Given the description of an element on the screen output the (x, y) to click on. 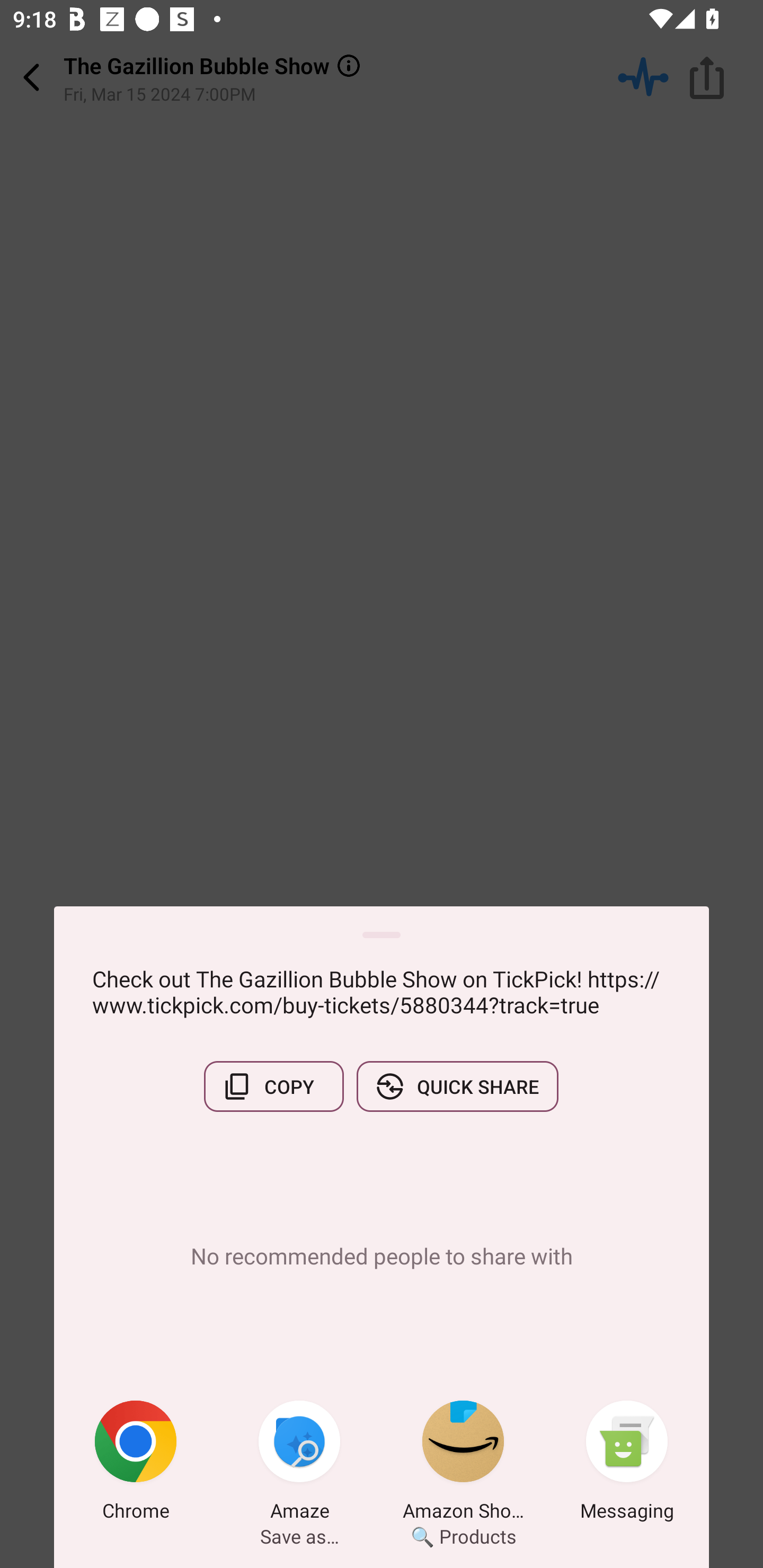
COPY (273, 1086)
QUICK SHARE (457, 1086)
Chrome (135, 1463)
Amaze Save as… (299, 1463)
Amazon Shopping 🔍 Products (463, 1463)
Messaging (626, 1463)
